Given the description of an element on the screen output the (x, y) to click on. 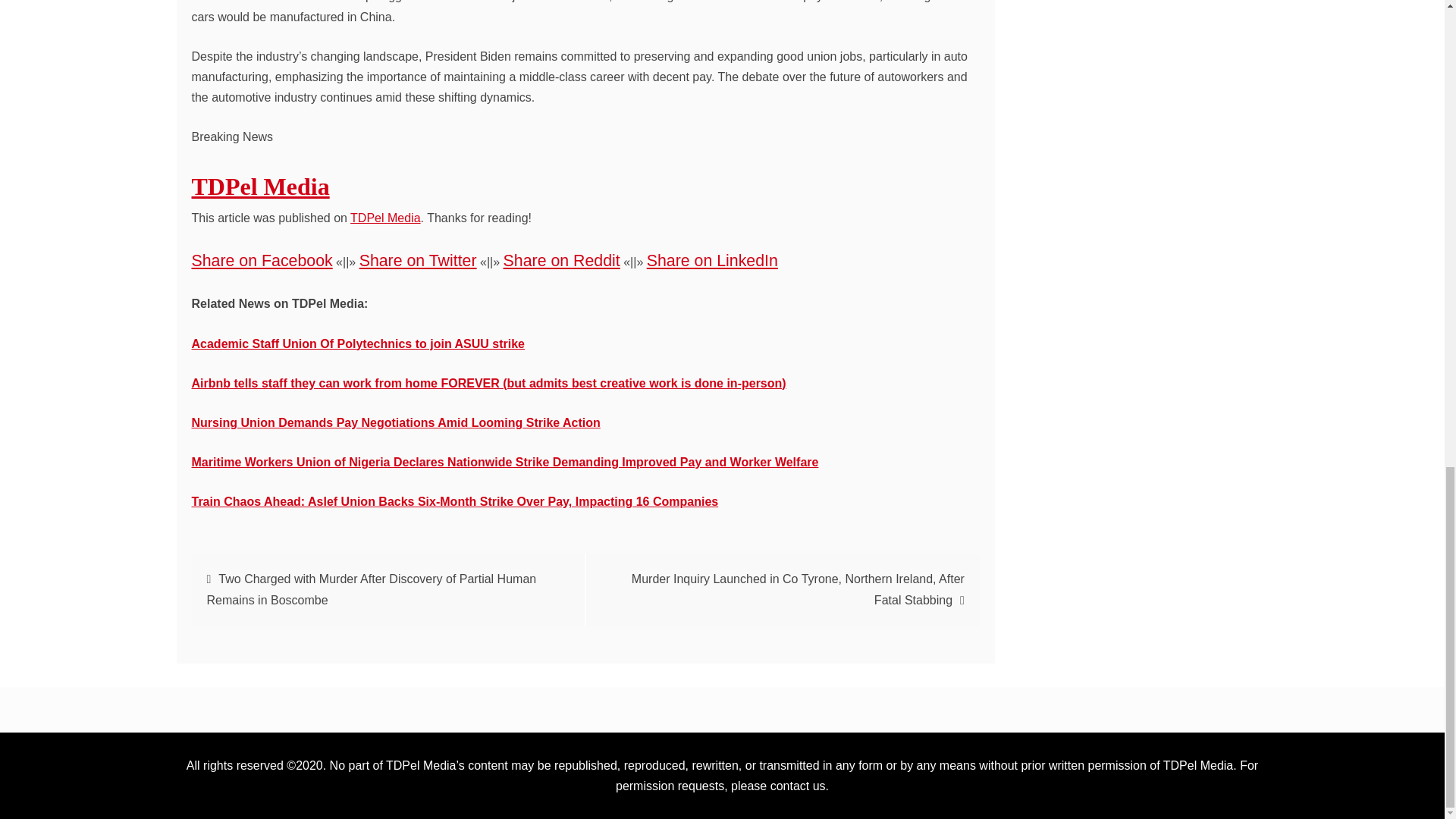
Academic Staff Union Of Polytechnics to join ASUU strike (357, 343)
